Given the description of an element on the screen output the (x, y) to click on. 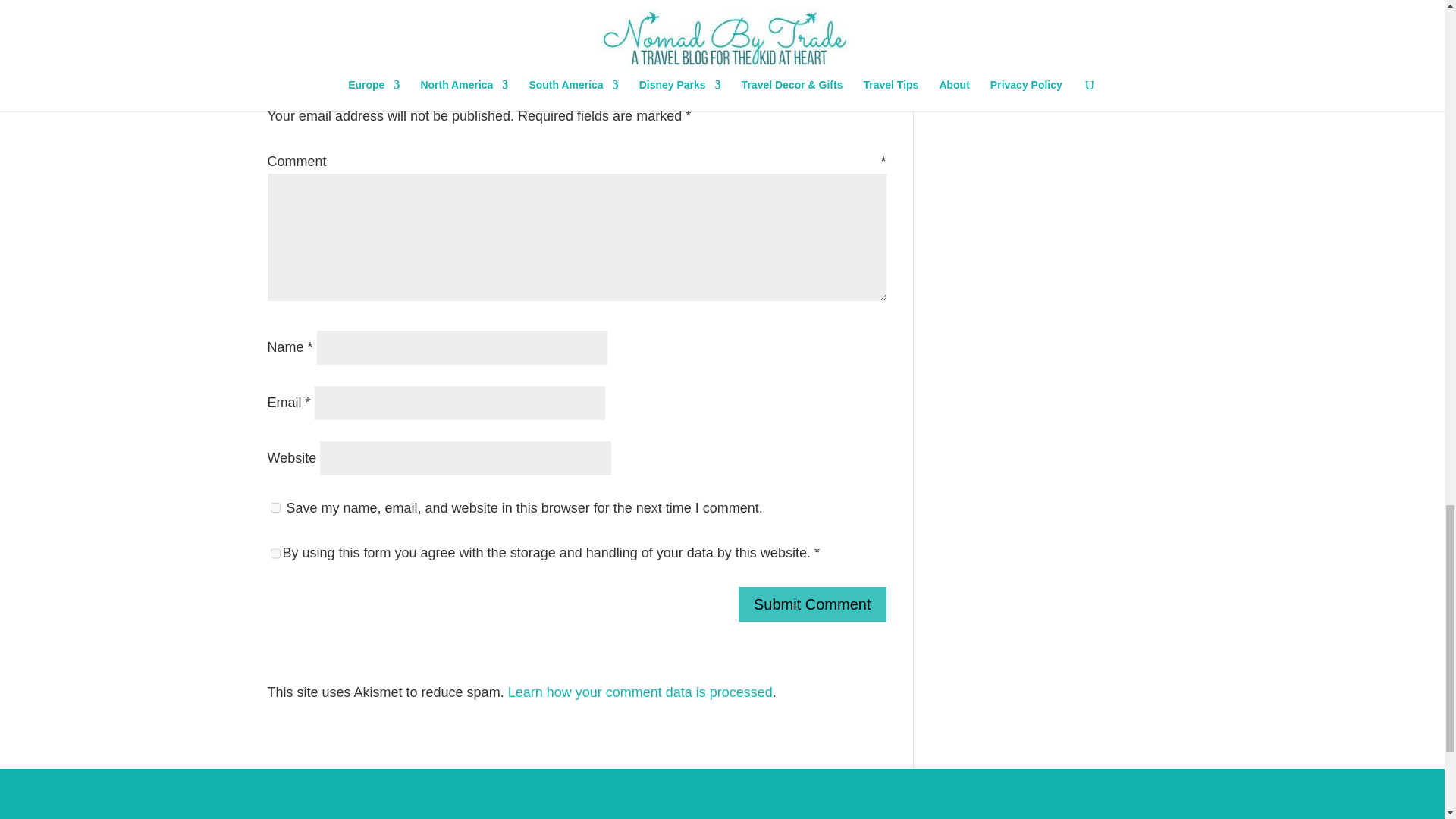
yes (274, 507)
Submit Comment (812, 604)
